Given the description of an element on the screen output the (x, y) to click on. 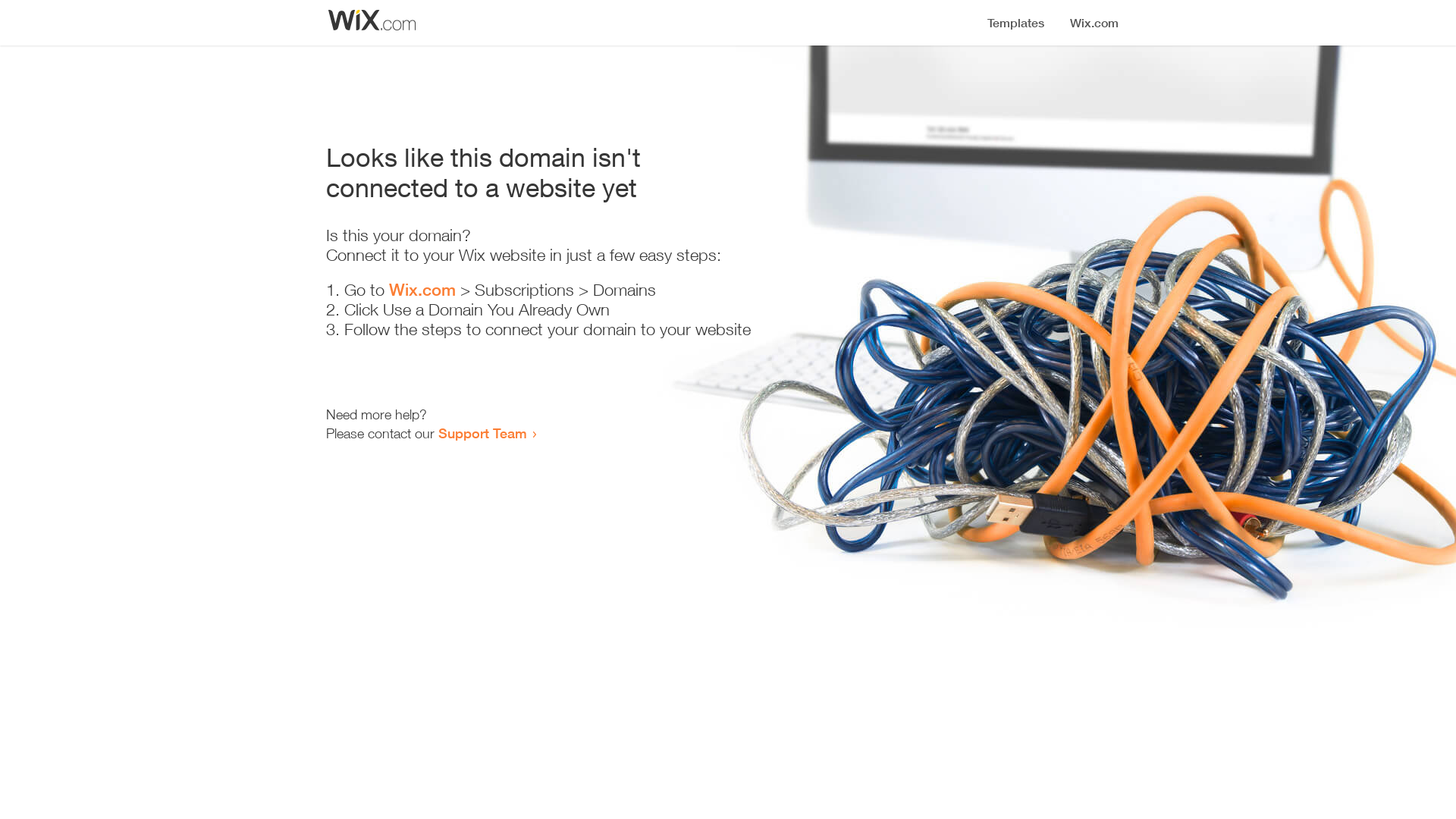
Wix.com Element type: text (422, 289)
Support Team Element type: text (482, 432)
